Given the description of an element on the screen output the (x, y) to click on. 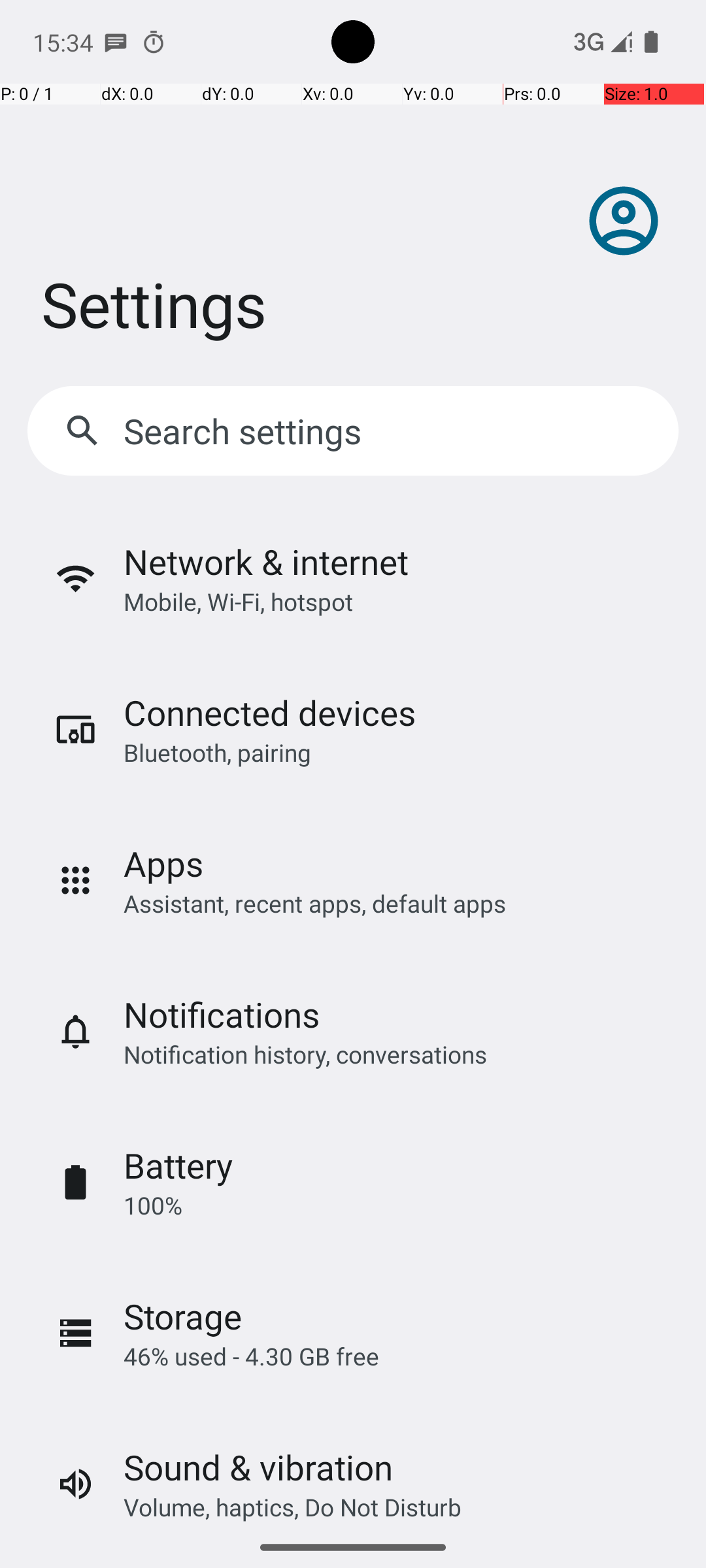
46% used - 4.30 GB free Element type: android.widget.TextView (251, 1355)
